Given the description of an element on the screen output the (x, y) to click on. 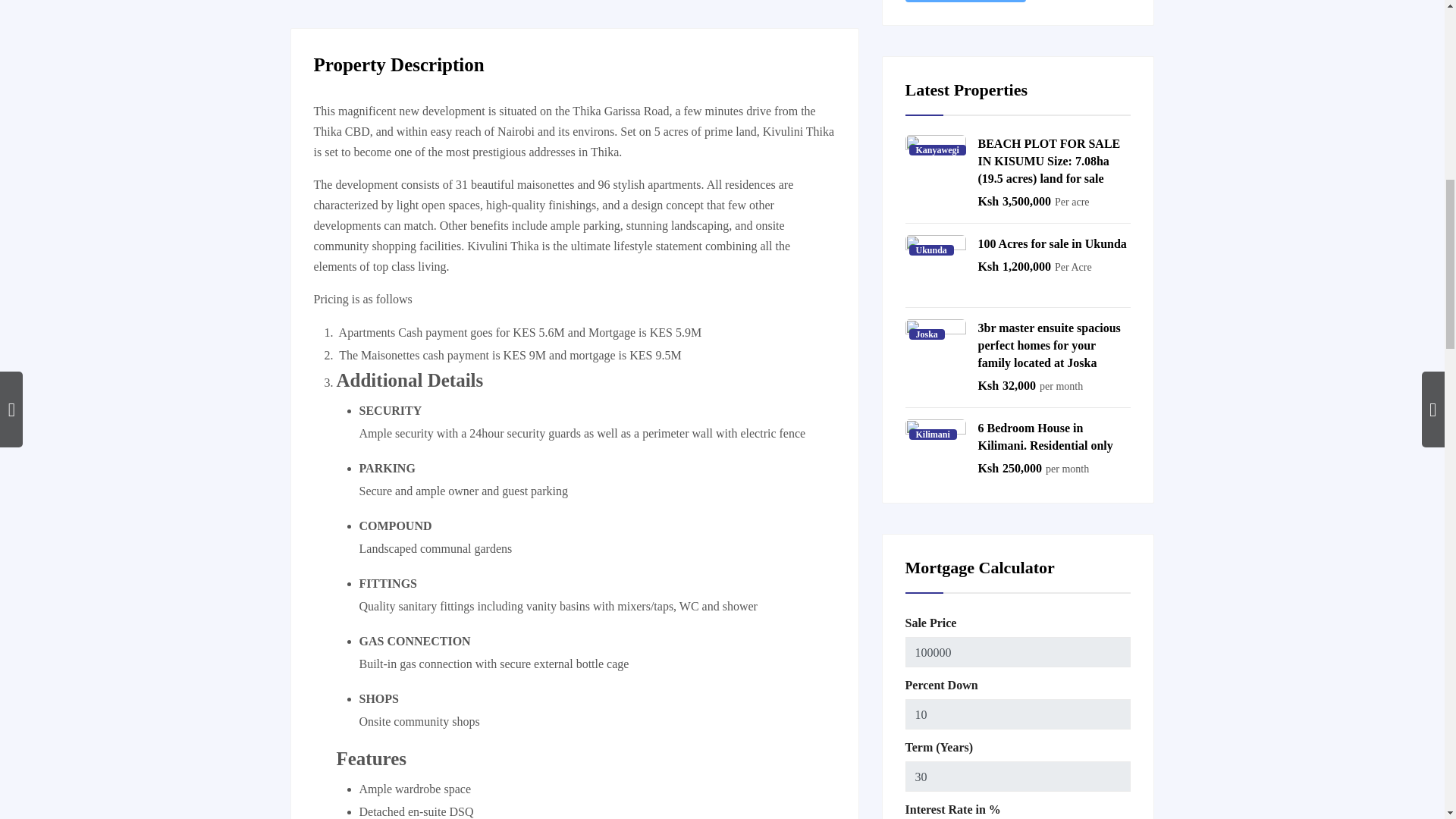
30 (1018, 776)
100000 (1018, 652)
10 (1018, 714)
